Given the description of an element on the screen output the (x, y) to click on. 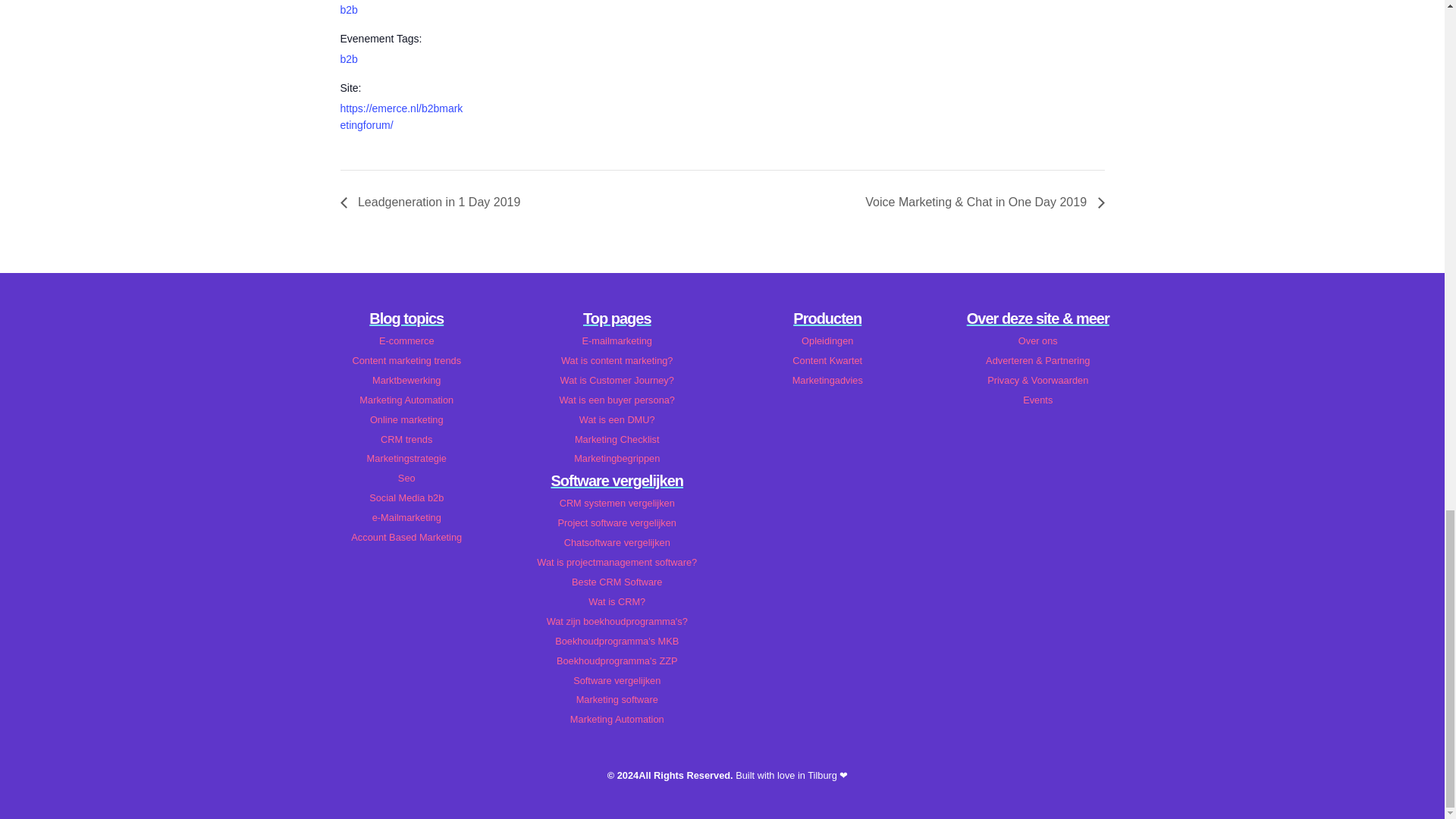
Wat is content marketing? (616, 360)
Content marketing trends (406, 360)
e-Mailmarketing (406, 517)
Wat is een buyer persona? (616, 400)
Account Based Marketing (406, 537)
E-mailmarketing (616, 341)
E-commerce (406, 341)
Online marketing (406, 419)
b2b (347, 59)
Marketingstrategie (406, 459)
